Given the description of an element on the screen output the (x, y) to click on. 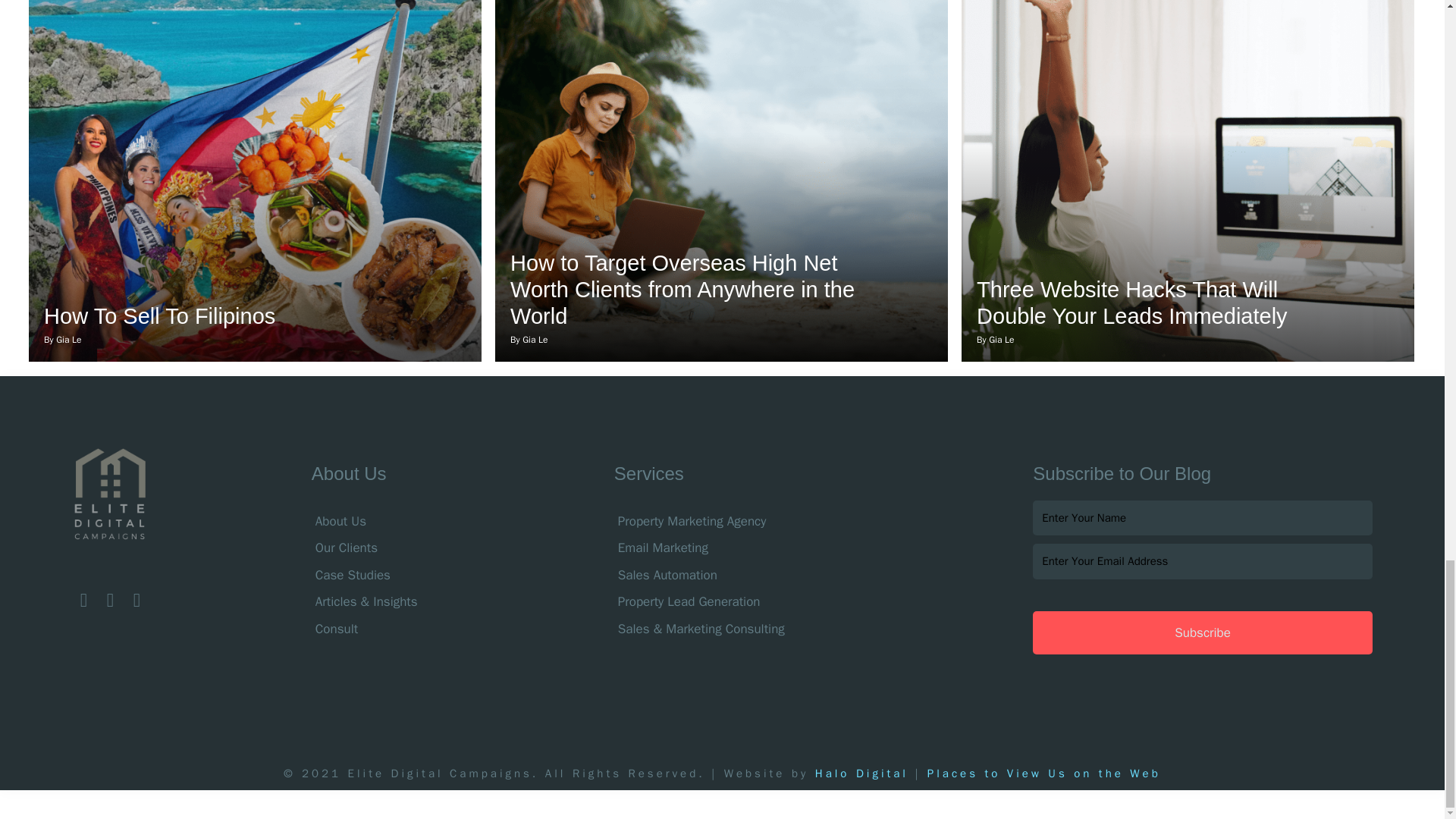
Gia Le (534, 339)
How To Sell To Filipinos (159, 315)
Subscribe (1201, 632)
Gia Le (1000, 339)
Three Website Hacks That Will Double Your Leads Immediately (1131, 302)
Gia Le (68, 339)
Three Website Hacks That Will Double Your Leads Immediately (1131, 302)
How To Sell To Filipinos (159, 315)
